Given the description of an element on the screen output the (x, y) to click on. 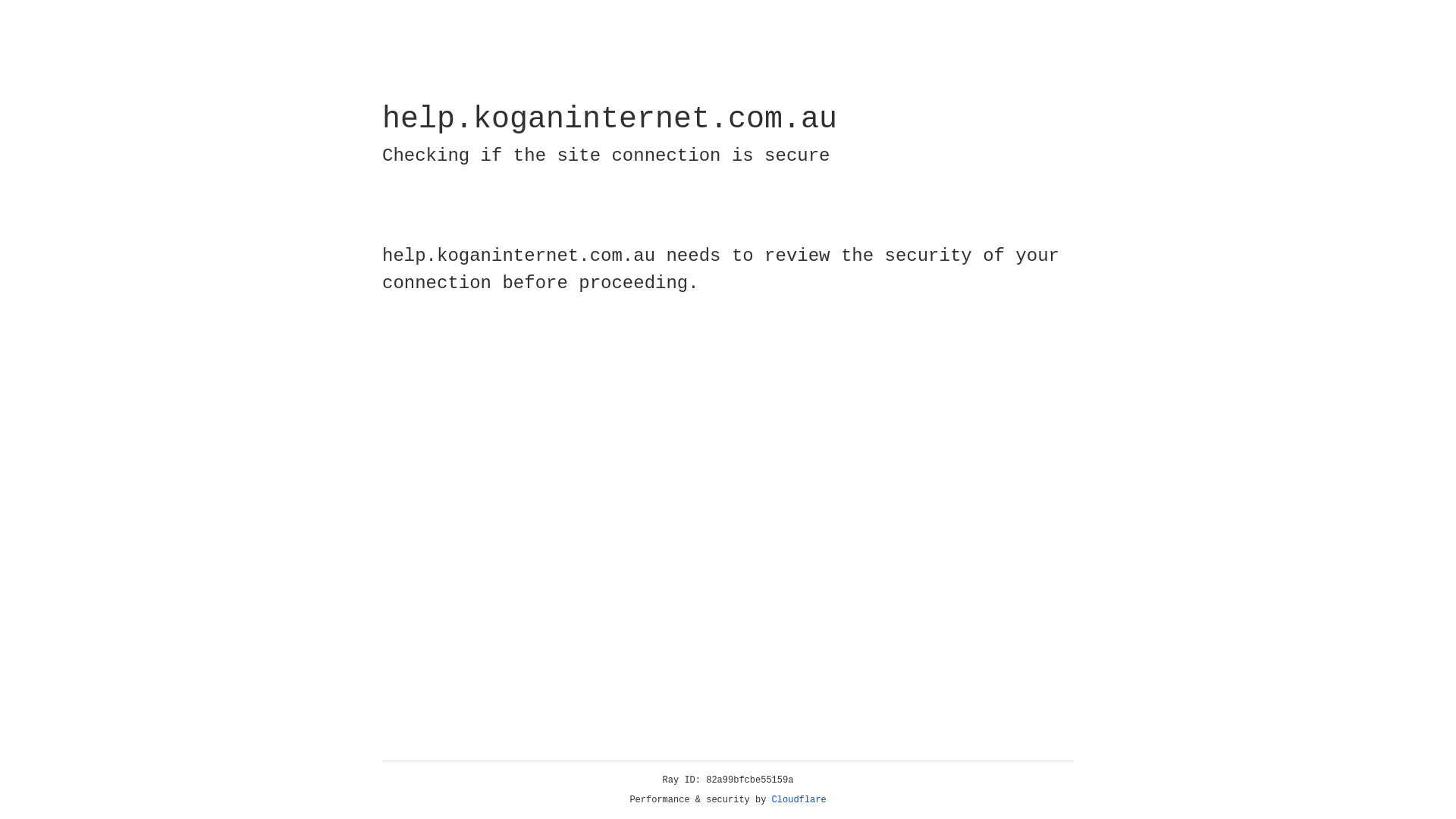
Cloudflare Element type: text (798, 799)
